Given the description of an element on the screen output the (x, y) to click on. 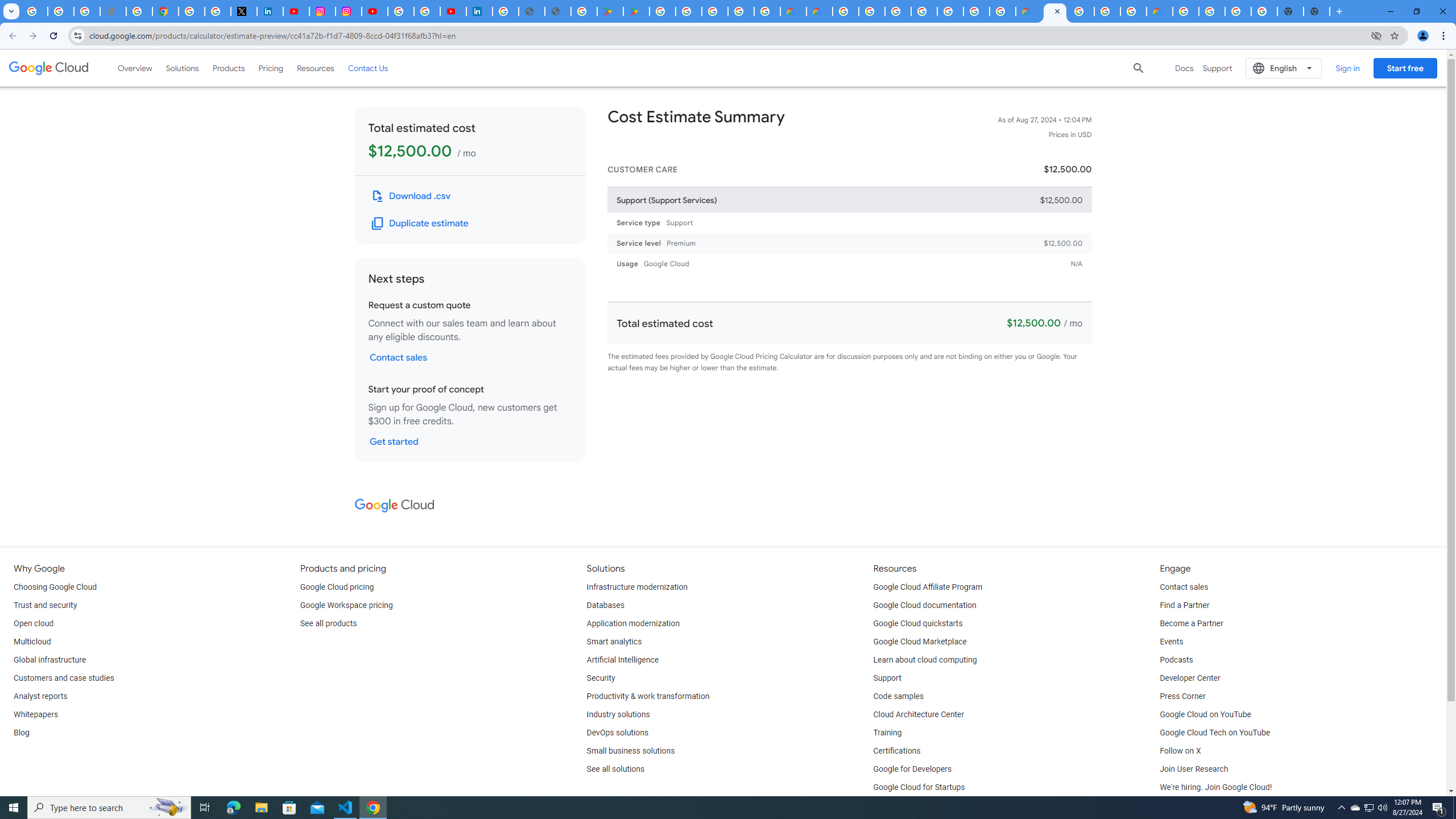
Contact Us (368, 67)
User Details (558, 11)
Privacy Help Center - Policies Help (138, 11)
Certifications (896, 751)
Follow on X (1179, 751)
Google Workspace - Specific Terms (740, 11)
Google Cloud Platform (1080, 11)
Application modernization (632, 624)
DevOps solutions (617, 732)
Databases (605, 605)
Products (228, 67)
